Given the description of an element on the screen output the (x, y) to click on. 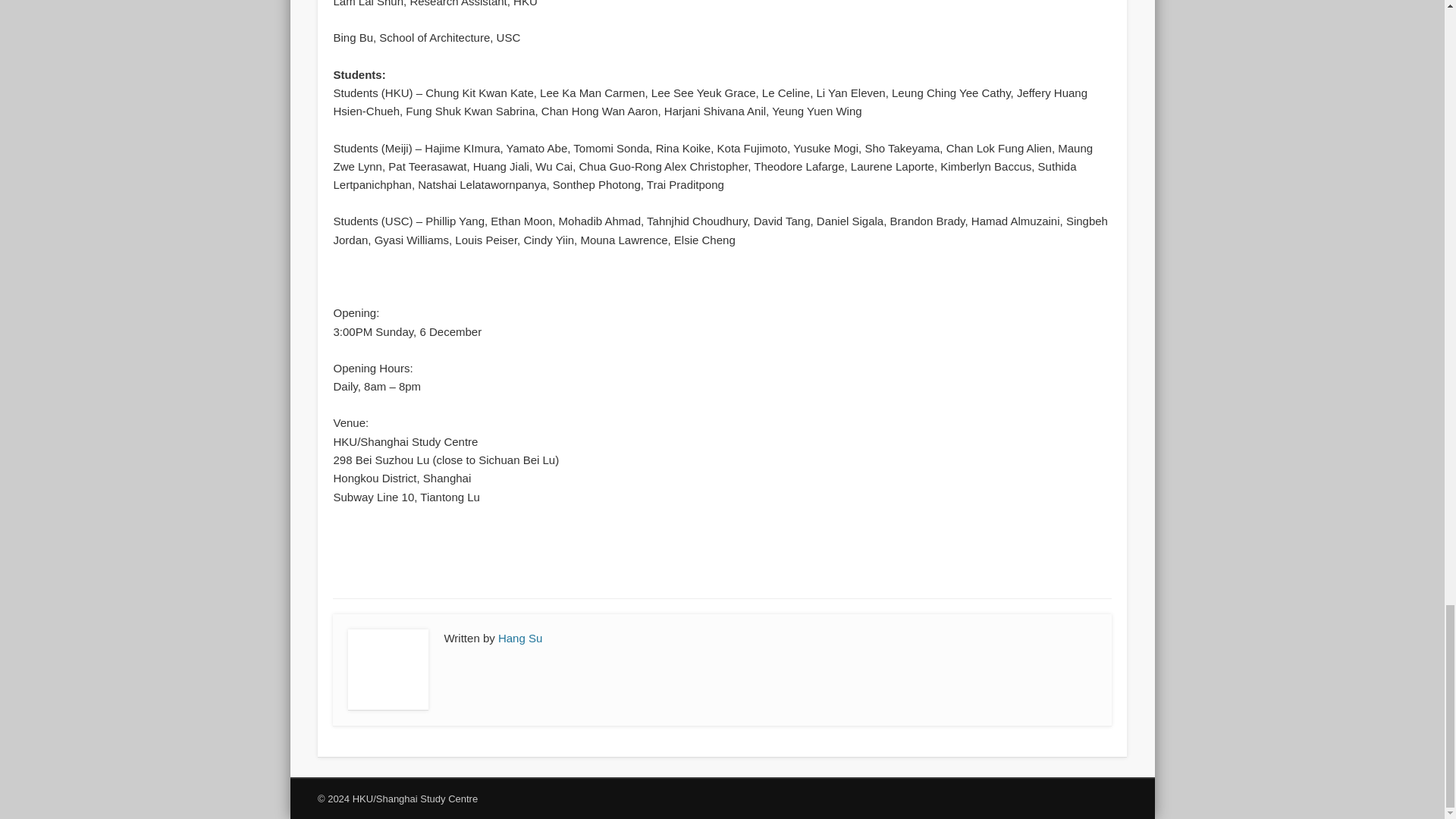
Posts by Hang Su (519, 637)
Hang Su (519, 637)
